Given the description of an element on the screen output the (x, y) to click on. 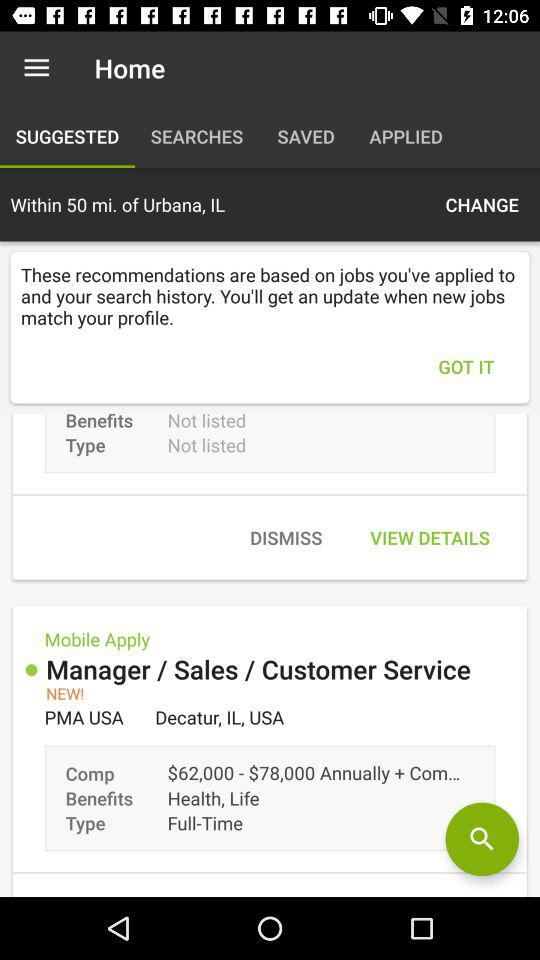
launch icon next to within 50 mi icon (482, 204)
